Given the description of an element on the screen output the (x, y) to click on. 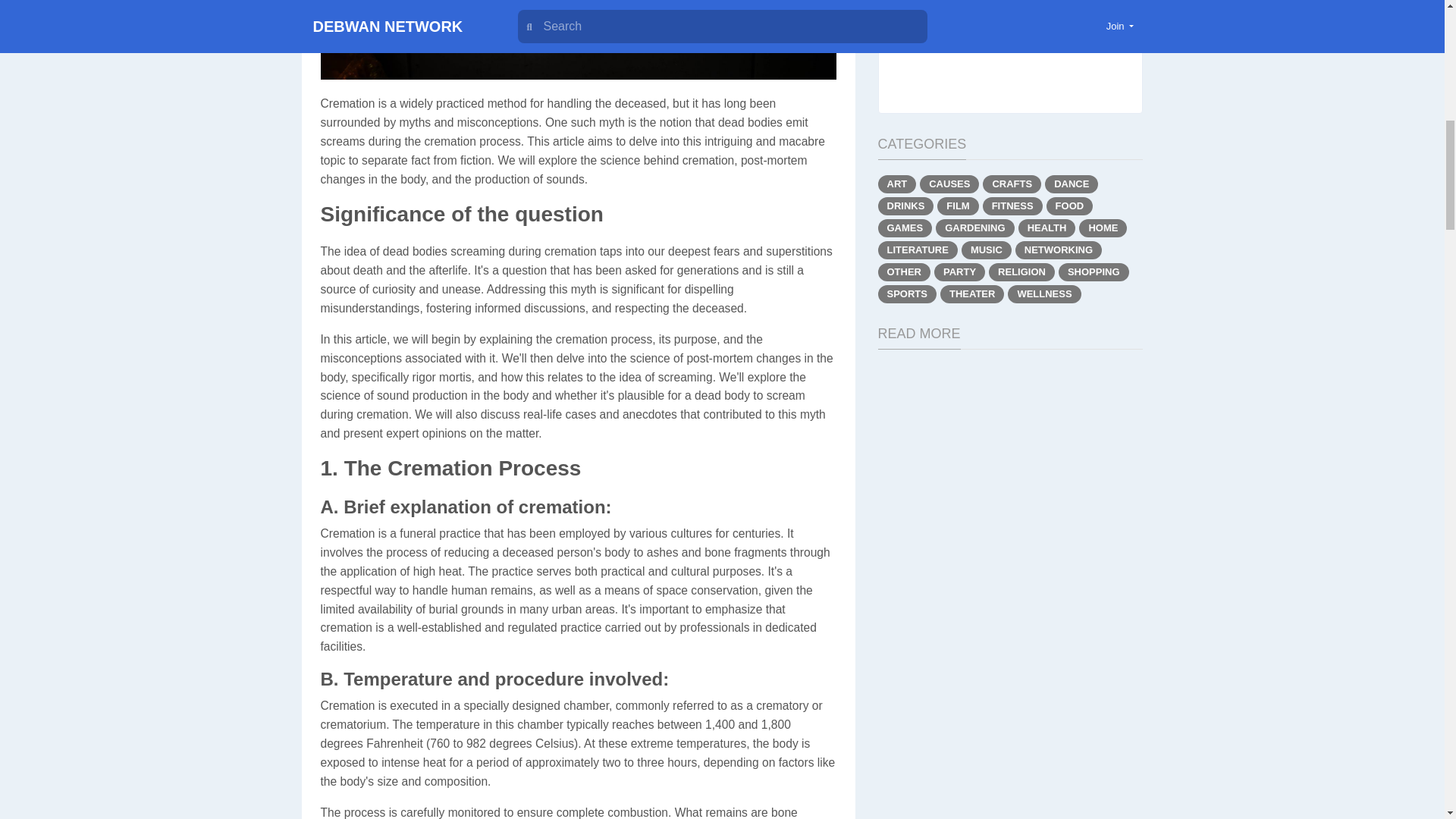
CAUSES (949, 183)
ART (897, 183)
Advertisement (1009, 48)
